Given the description of an element on the screen output the (x, y) to click on. 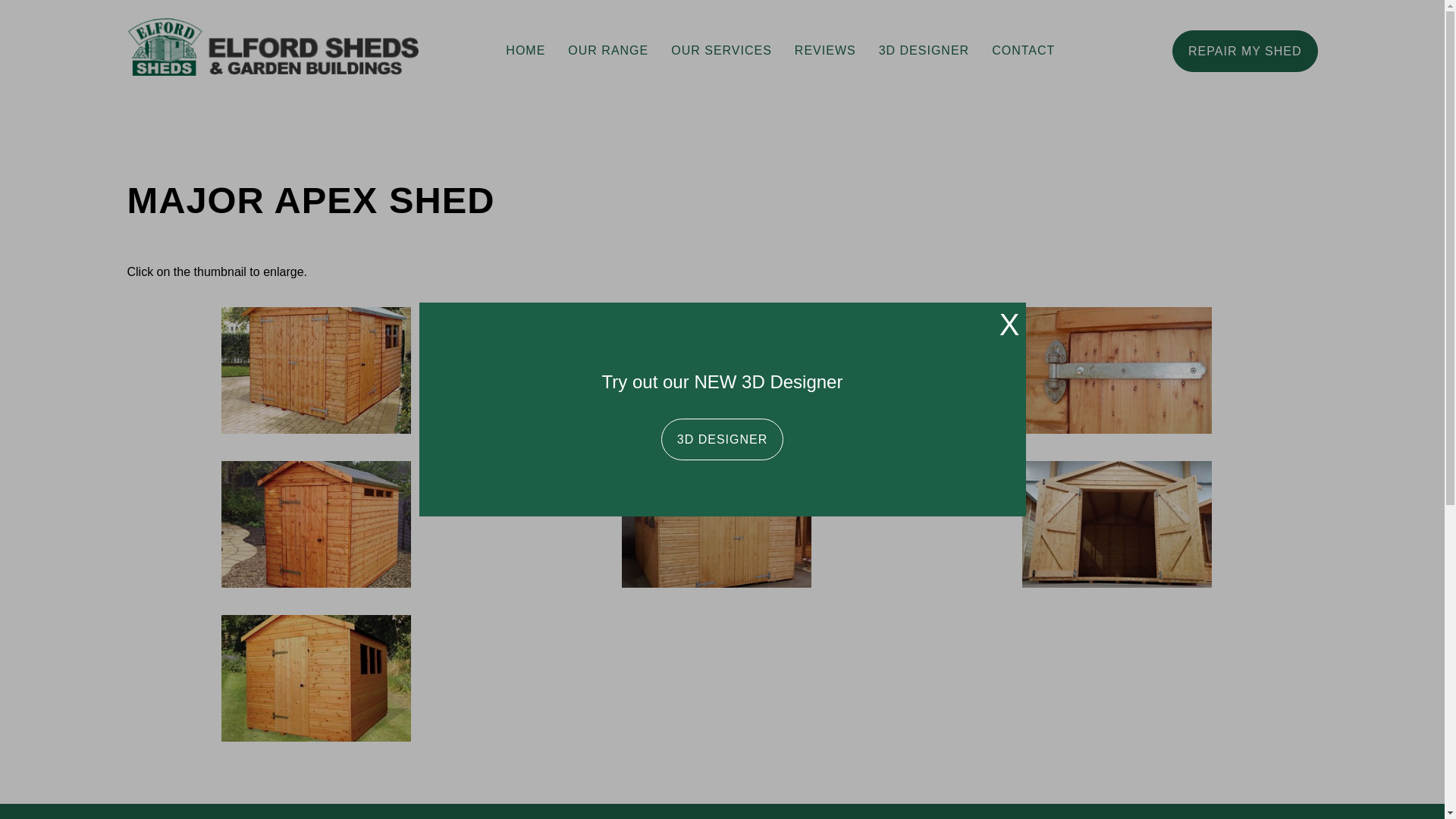
REVIEWS (825, 50)
HOME (525, 50)
OUR SERVICES (721, 50)
REPAIR MY SHED (1244, 51)
OUR RANGE (607, 50)
3D DESIGNER (923, 50)
3D DESIGNER (722, 439)
CONTACT (1022, 50)
